Given the description of an element on the screen output the (x, y) to click on. 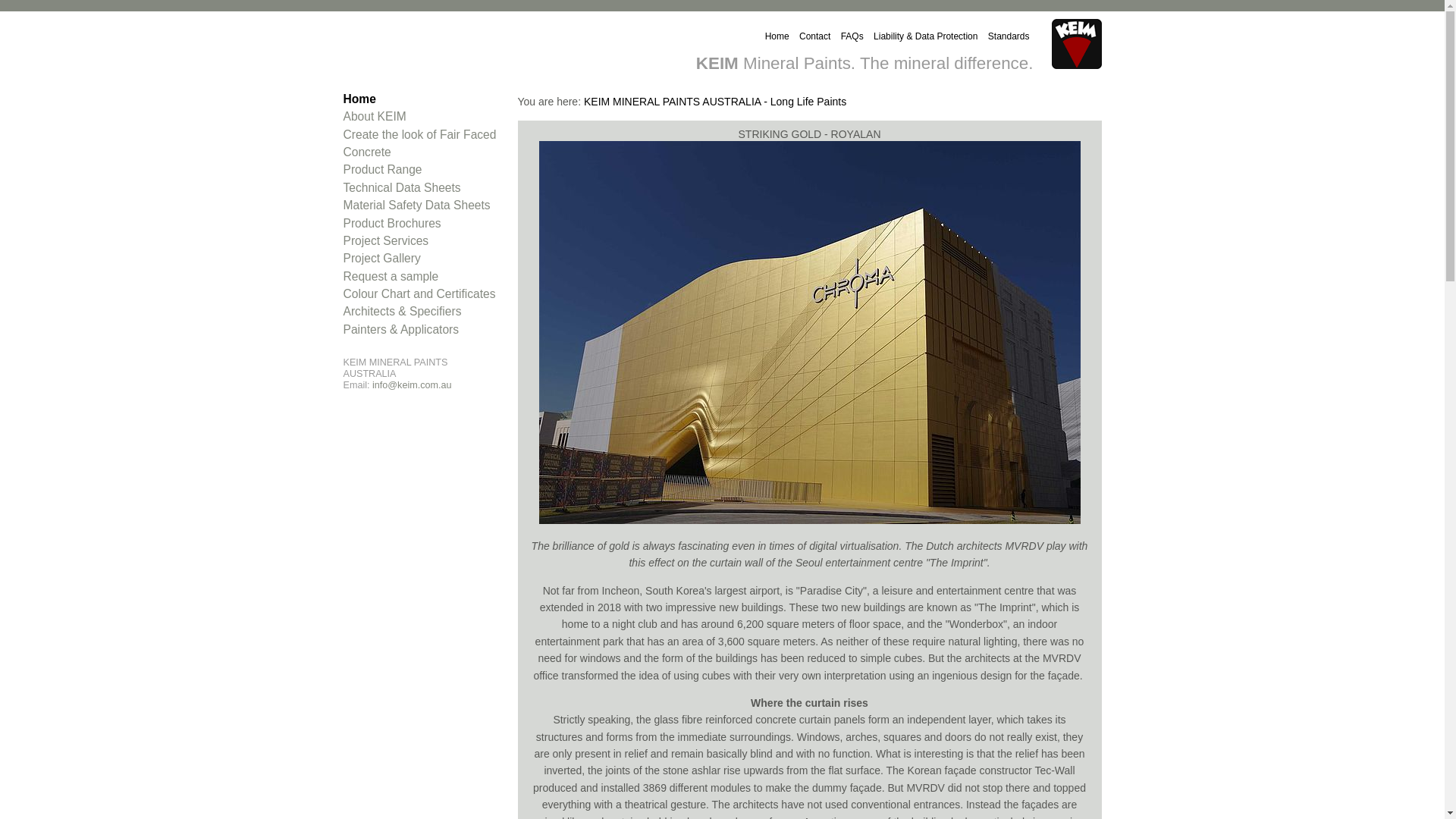
Painters & Applicators Element type: text (400, 329)
Liability & Data Protection Element type: text (925, 36)
Project Services Element type: text (385, 240)
Request a sample Element type: text (390, 275)
info@keim.com.au Element type: text (411, 384)
Home Element type: text (777, 36)
Product Range Element type: text (381, 169)
Create the look of Fair Faced Concrete Element type: text (418, 143)
Standards Element type: text (1008, 36)
Contact Element type: text (814, 36)
FAQs Element type: text (851, 36)
IMPRINT SOUTH KOREA Element type: hover (808, 332)
Home Element type: text (358, 98)
KEIM MINERAL PAINTS AUSTRALIA - Long Life Paints Element type: text (714, 101)
Technical Data Sheets Element type: text (401, 187)
Project Gallery Element type: text (381, 257)
Colour Chart and Certificates Element type: text (418, 293)
Material Safety Data Sheets Element type: text (415, 204)
Architects & Specifiers Element type: text (401, 310)
Product Brochures Element type: text (391, 222)
About KEIM Element type: text (373, 115)
